Given the description of an element on the screen output the (x, y) to click on. 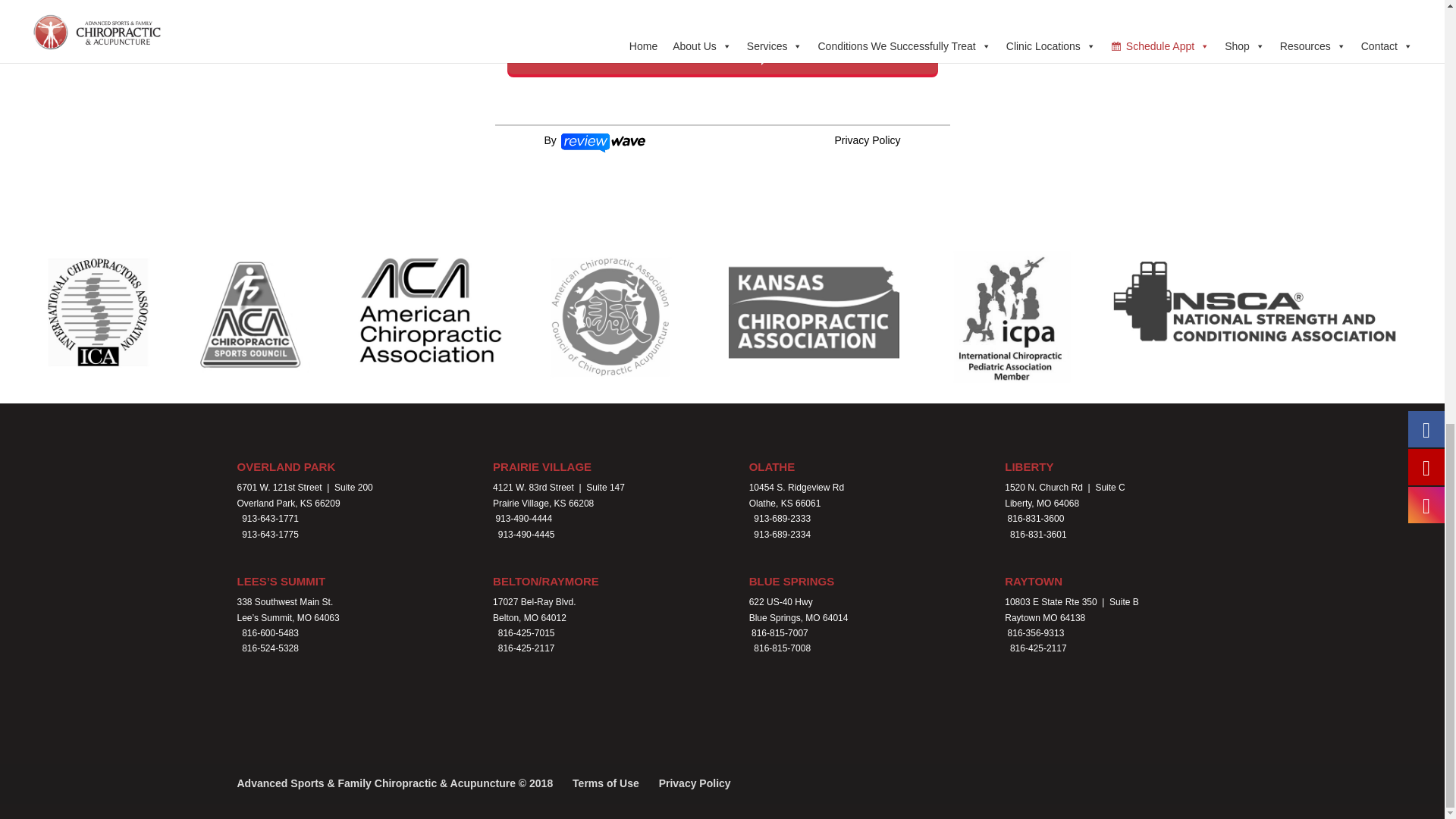
1 (514, 15)
